Given the description of an element on the screen output the (x, y) to click on. 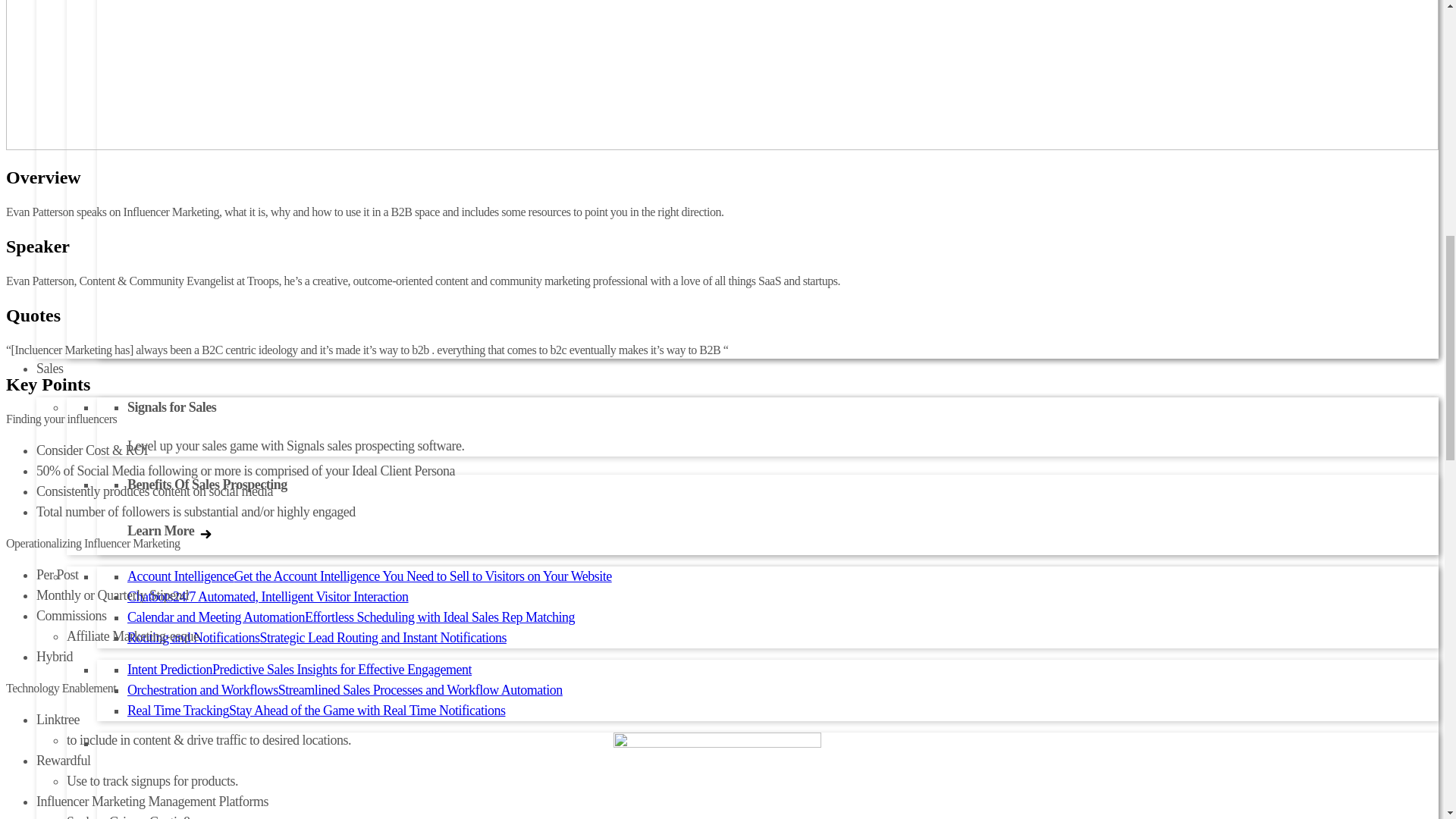
Sales (50, 368)
